Given the description of an element on the screen output the (x, y) to click on. 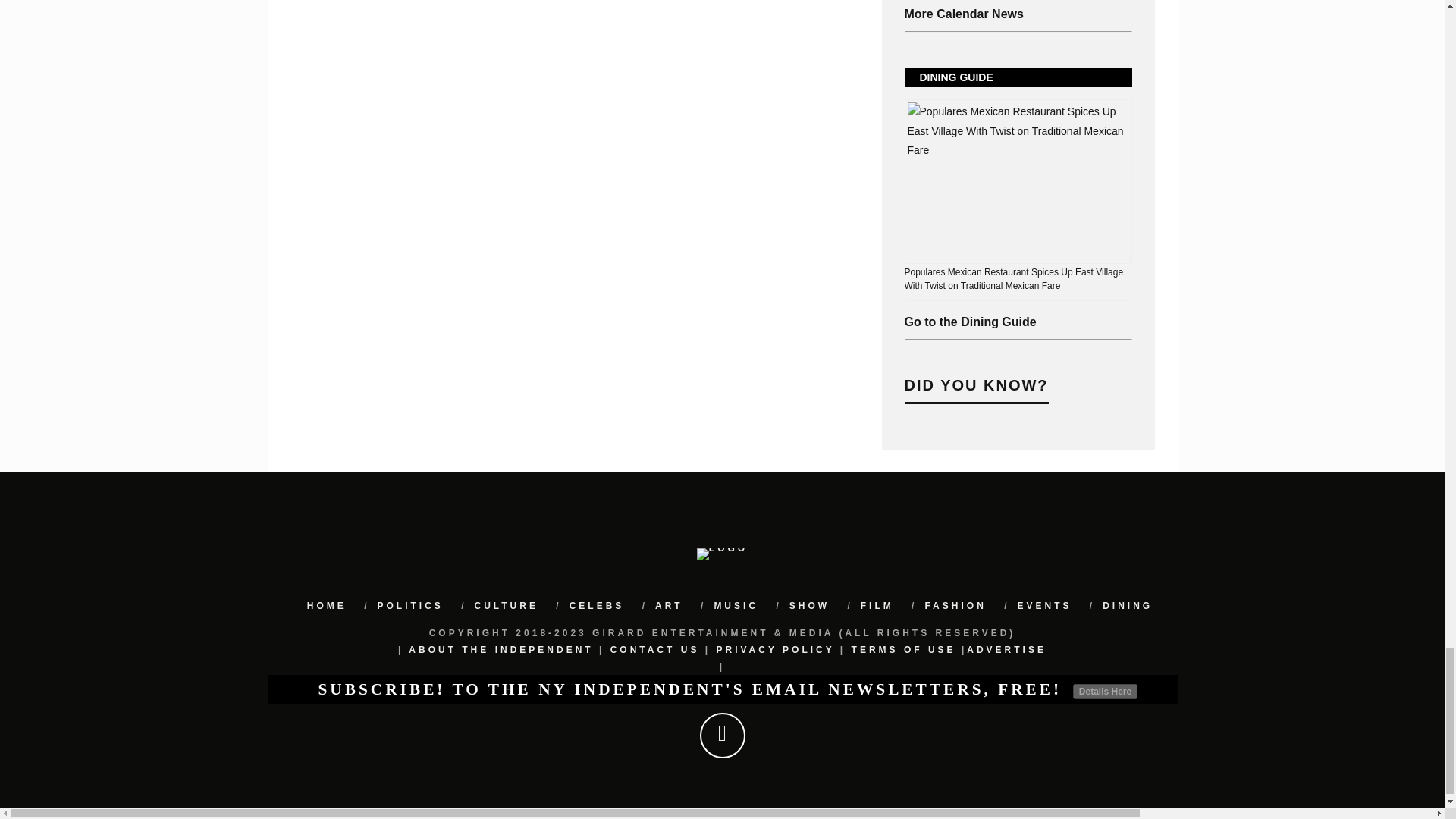
Details Here (1105, 691)
